Given the description of an element on the screen output the (x, y) to click on. 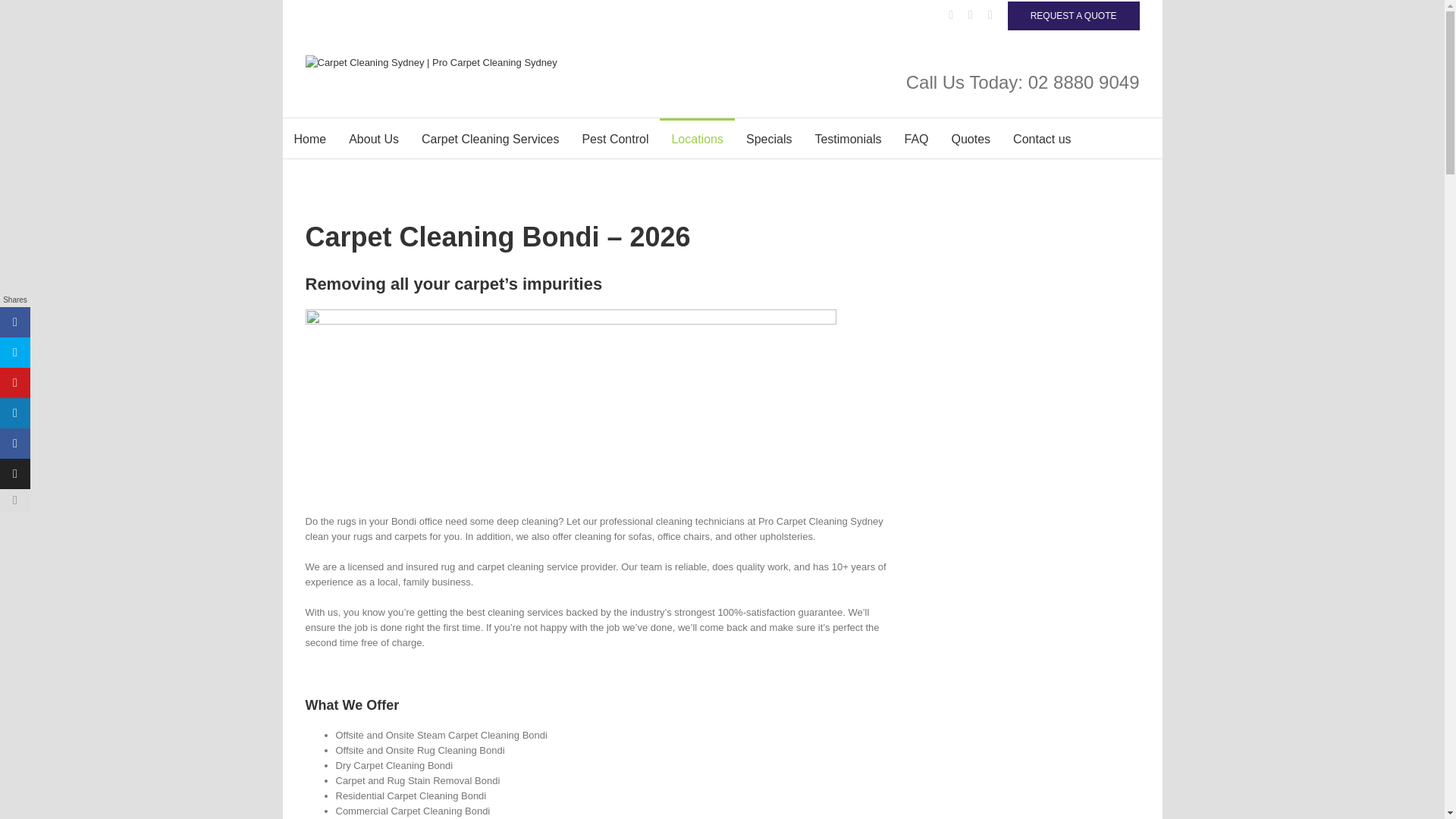
Home (309, 137)
Pest Control (614, 137)
Locations (697, 137)
REQUEST A QUOTE (1073, 15)
Cleaning Services (490, 137)
About Us (373, 137)
About Pro Carpet Cleaning Sydney (373, 137)
Carpet Cleaning Services (490, 137)
Pest Control Sydney (614, 137)
